Given the description of an element on the screen output the (x, y) to click on. 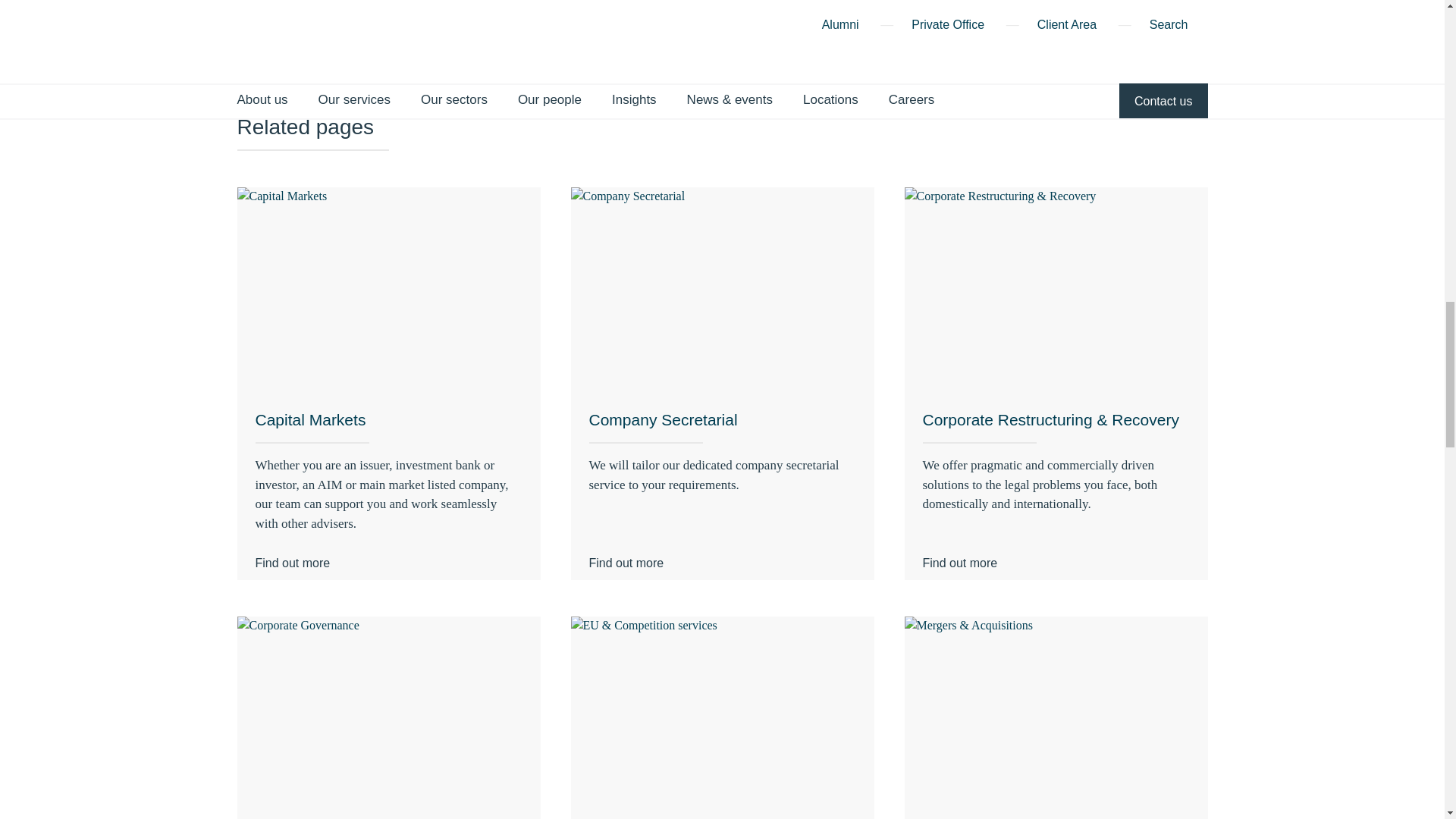
merger-acquisitions-tile (1055, 717)
corporate-governance-tile (387, 717)
corporate-restructuring-insolvency-tile (1055, 288)
eu-and-competition-tile (721, 717)
company-secretarial-tile (721, 288)
capital-markets-tile (387, 288)
